Given the description of an element on the screen output the (x, y) to click on. 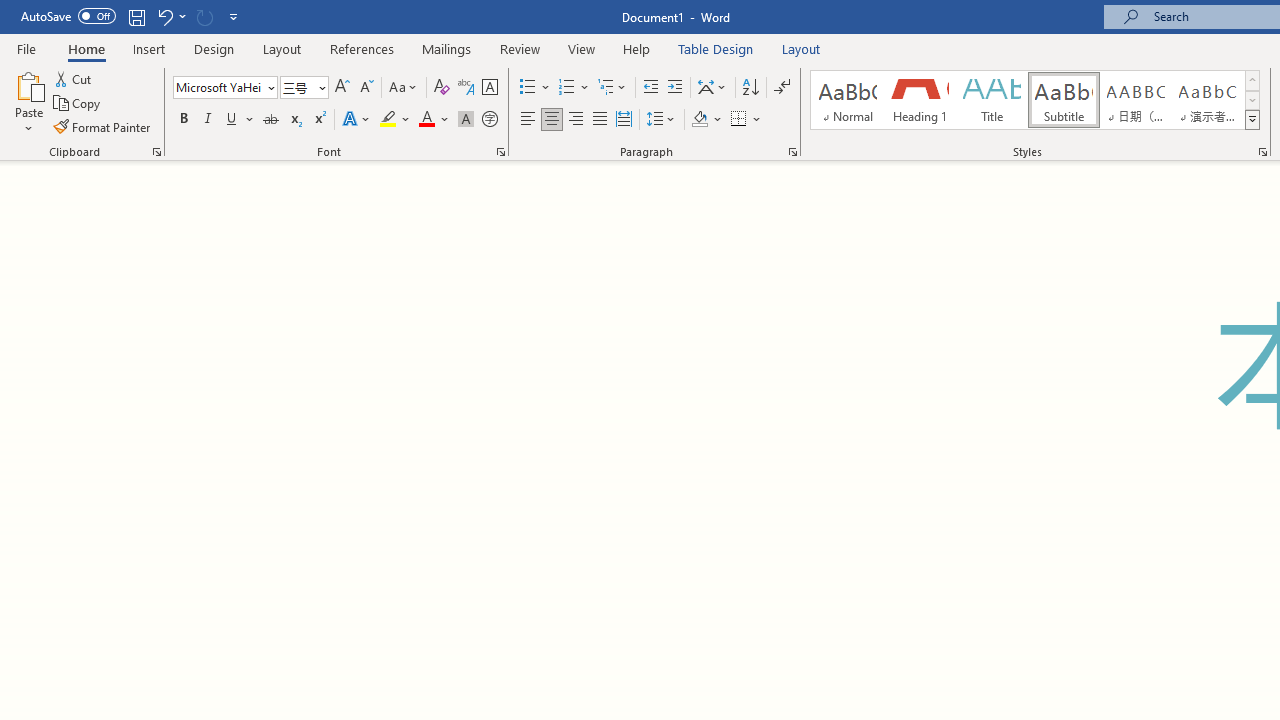
Italic (207, 119)
Styles (1252, 120)
Text Highlight Color (395, 119)
Sort... (750, 87)
Change Case (404, 87)
Heading 1 (920, 100)
Row up (1252, 79)
Paste (28, 102)
Distributed (623, 119)
Grow Font (342, 87)
Increase Indent (675, 87)
Shading (706, 119)
View (582, 48)
